Given the description of an element on the screen output the (x, y) to click on. 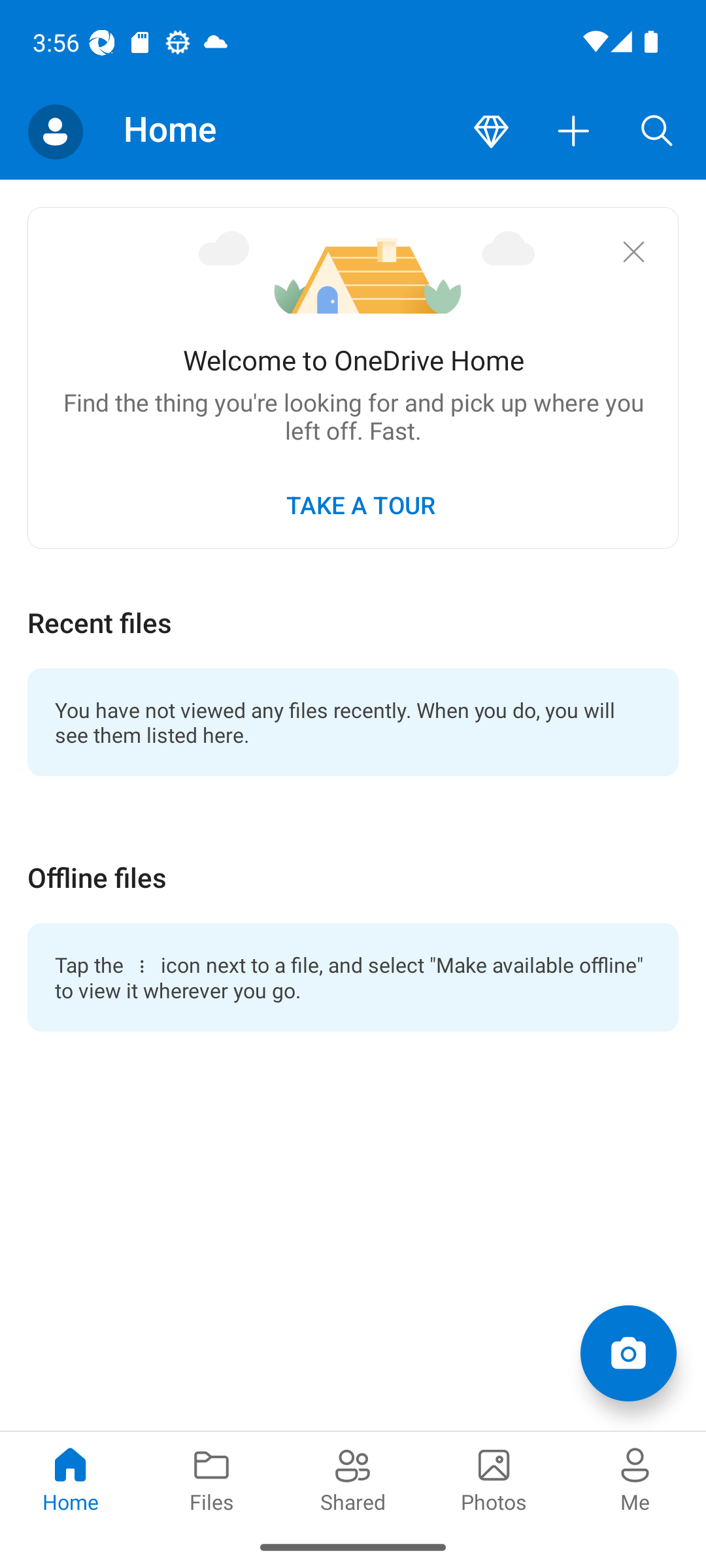
Account switcher (55, 131)
Premium button (491, 131)
More actions button (574, 131)
Search button (656, 131)
Close (633, 251)
TAKE A TOUR (359, 503)
Scan (628, 1352)
Files pivot Files (211, 1478)
Shared pivot Shared (352, 1478)
Photos pivot Photos (493, 1478)
Me pivot Me (635, 1478)
